Given the description of an element on the screen output the (x, y) to click on. 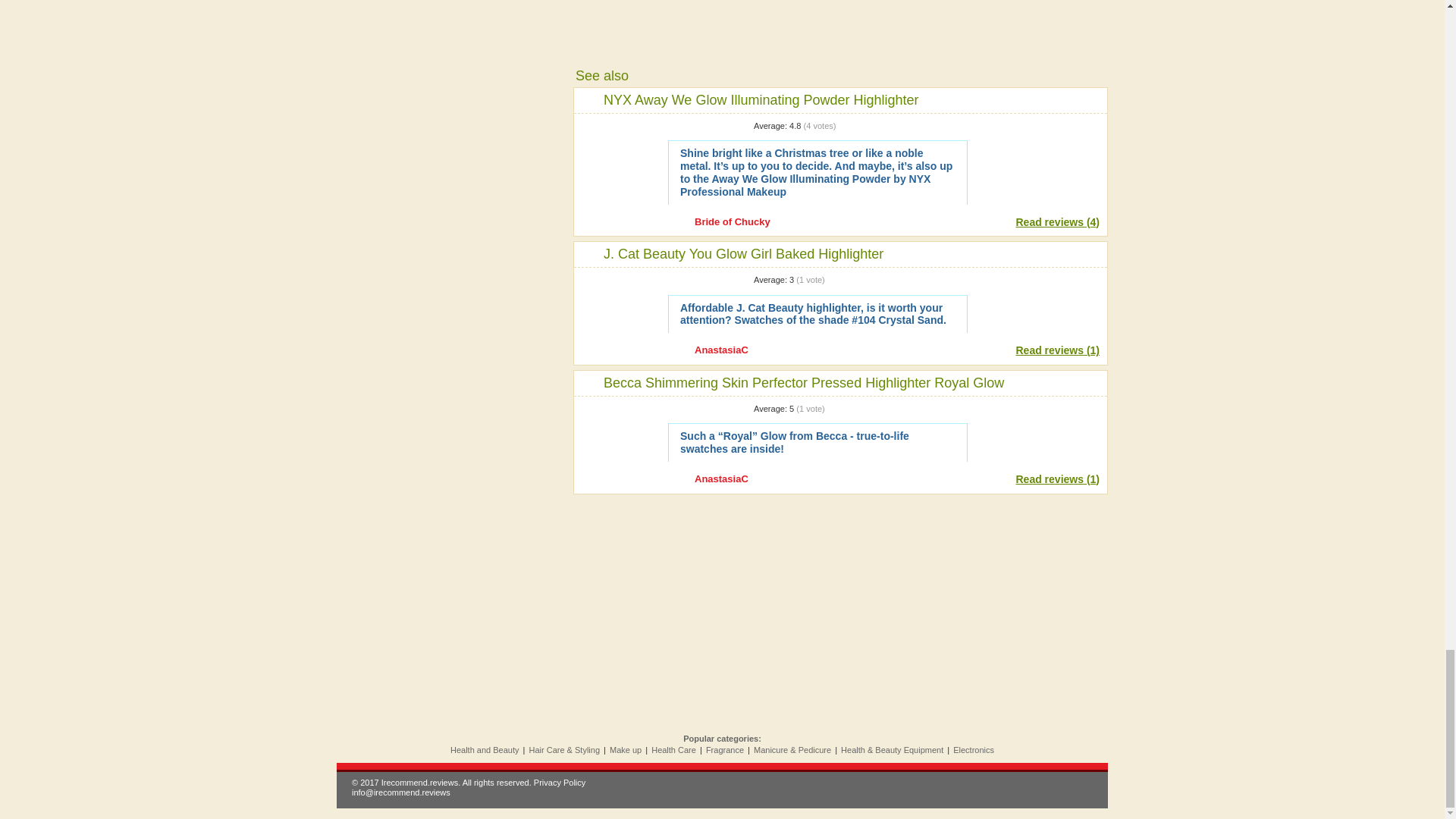
Write a review (1037, 301)
Write a review (1037, 147)
Write a review (1037, 430)
